Given the description of an element on the screen output the (x, y) to click on. 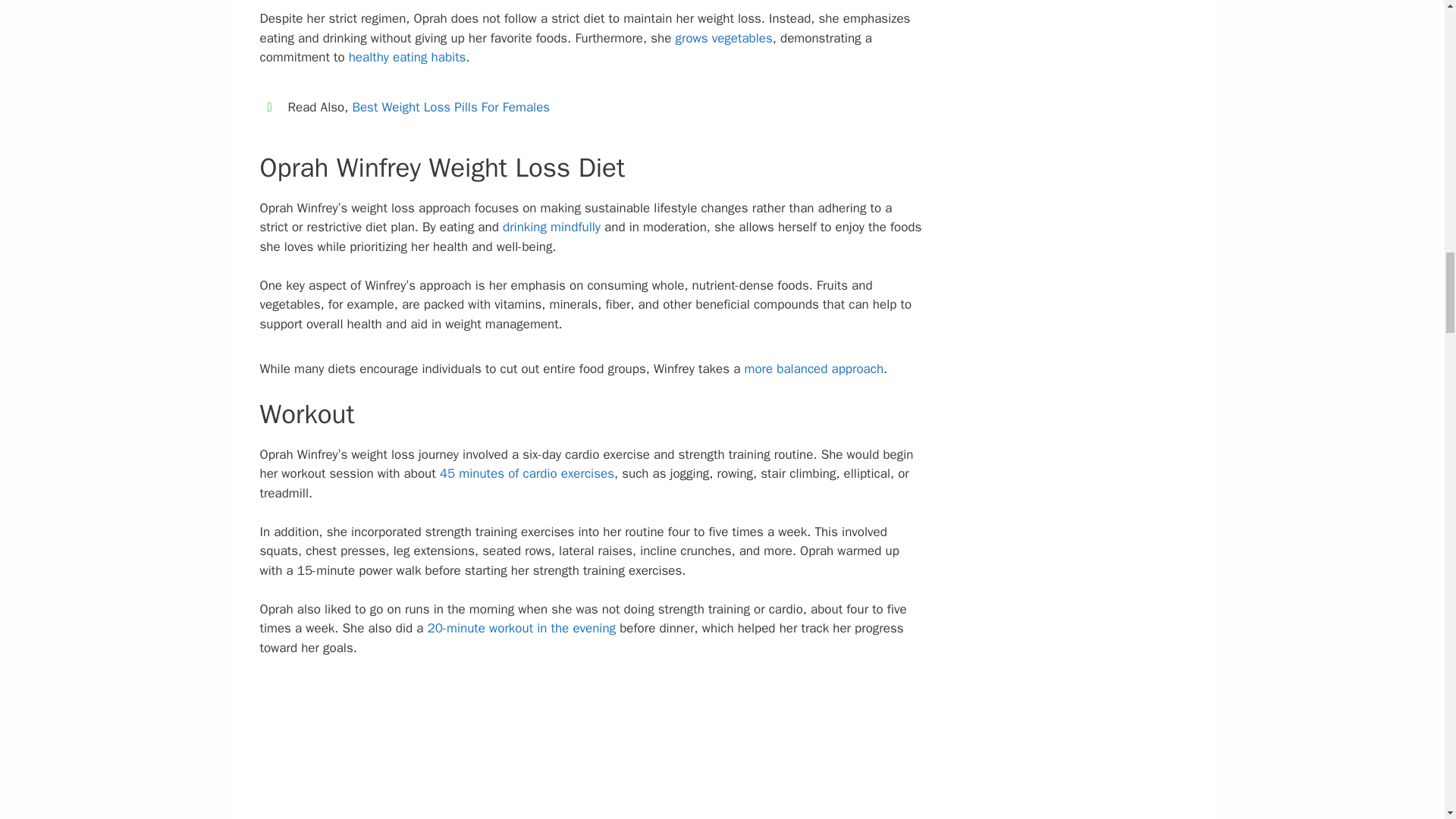
grows vegetables (723, 37)
20-minute workout in the evening (521, 627)
healthy eating habits (407, 57)
Best Weight Loss Pills For Females (451, 107)
more balanced approach (813, 368)
45 minutes of cardio exercises (526, 473)
drinking mindfully (550, 227)
